Given the description of an element on the screen output the (x, y) to click on. 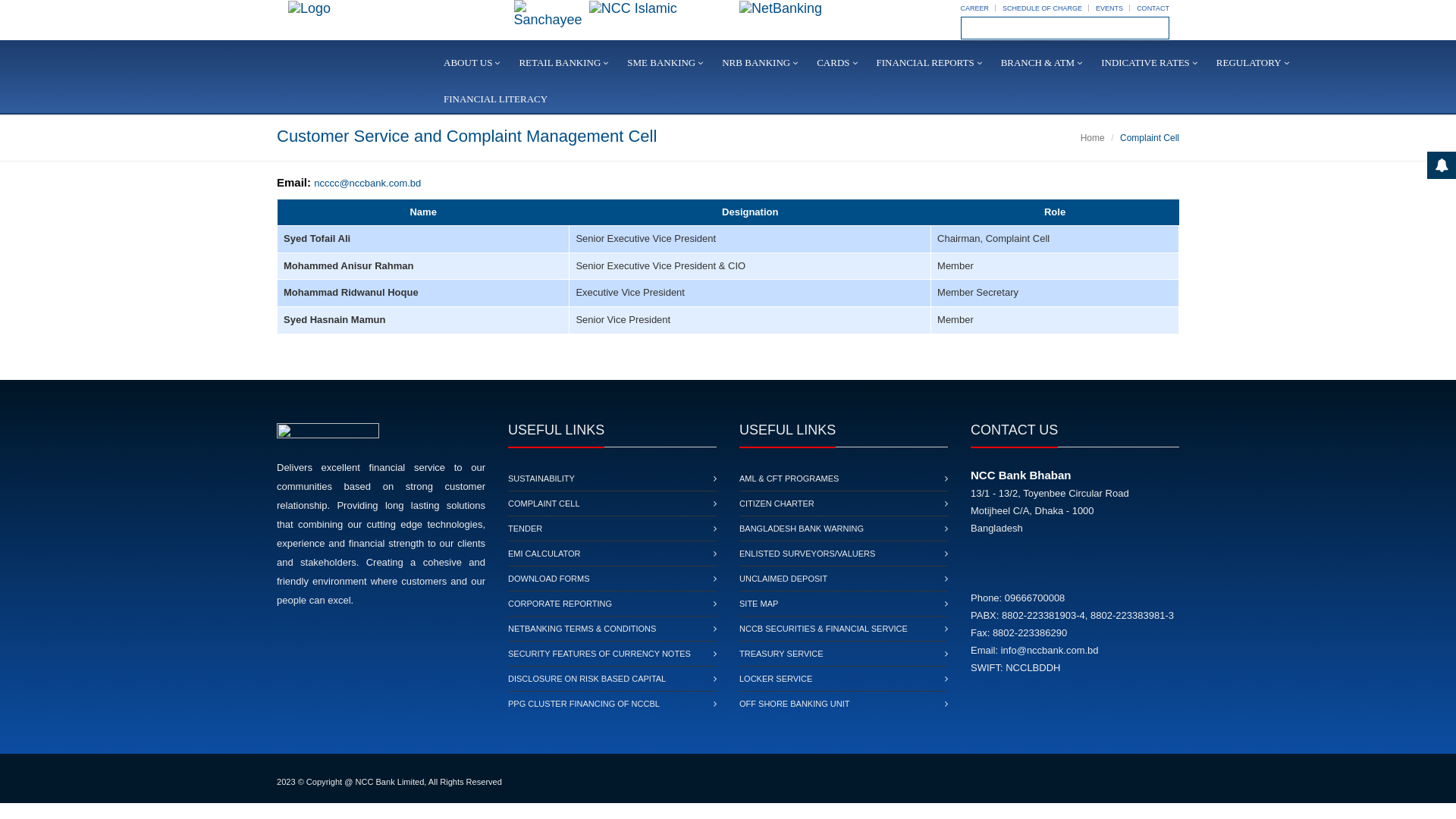
TREASURY SERVICE Element type: text (781, 653)
CONTACT Element type: text (1152, 8)
EVENTS Element type: text (1109, 8)
CAREER Element type: text (974, 8)
CITIZEN CHARTER Element type: text (776, 503)
COMPLAINT CELL Element type: text (544, 503)
INDICATIVE RATES Element type: text (1150, 63)
SITE MAP Element type: text (758, 603)
SME BANKING Element type: text (666, 63)
UNCLAIMED DEPOSIT Element type: text (783, 578)
NETBANKING TERMS & CONDITIONS Element type: text (581, 628)
SCHEDULE OF CHARGE Element type: text (1042, 8)
ENLISTED SURVEYORS/VALUERS Element type: text (807, 553)
LOCKER SERVICE Element type: text (775, 678)
TENDER Element type: text (525, 528)
NCCB SECURITIES & FINANCIAL SERVICE Element type: text (823, 628)
CARDS Element type: text (838, 63)
Home Element type: text (1092, 137)
ncccc@nccbank.com.bd Element type: text (366, 182)
NRB BANKING Element type: text (761, 63)
SUSTAINABILITY Element type: text (541, 478)
FINANCIAL LITERACY Element type: text (501, 99)
BANGLADESH BANK WARNING Element type: text (801, 528)
OFF SHORE BANKING UNIT Element type: text (794, 703)
DISCLOSURE ON RISK BASED CAPITAL Element type: text (586, 678)
AML & CFT PROGRAMES Element type: text (788, 478)
SECURITY FEATURES OF CURRENCY NOTES Element type: text (599, 653)
EMI CALCULATOR Element type: text (544, 553)
CORPORATE REPORTING Element type: text (559, 603)
BRANCH & ATM Element type: text (1043, 63)
REGULATORY Element type: text (1254, 63)
ABOUT US Element type: text (473, 63)
DOWNLOAD FORMS Element type: text (548, 578)
PPG CLUSTER FINANCING OF NCCBL Element type: text (583, 703)
FINANCIAL REPORTS Element type: text (931, 63)
RETAIL BANKING Element type: text (565, 63)
